Given the description of an element on the screen output the (x, y) to click on. 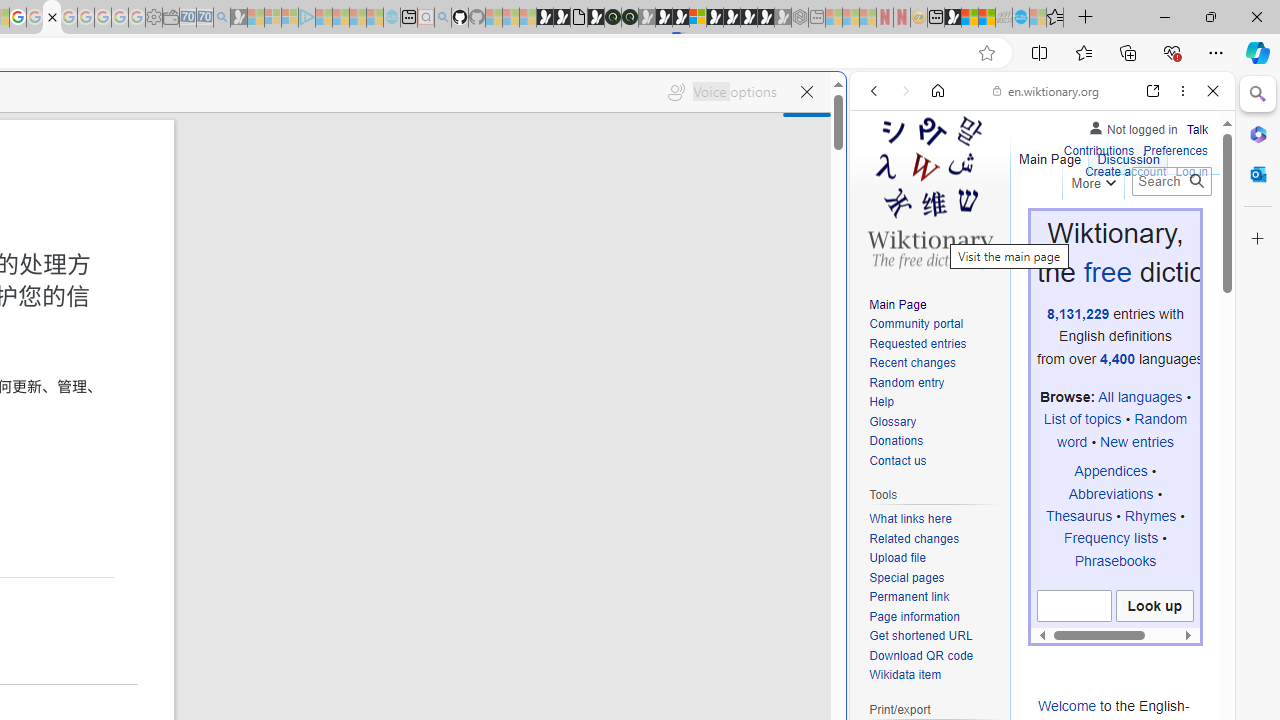
List of topics (1082, 419)
Log in (1191, 172)
Donations (896, 441)
What links here (934, 519)
Requested entries (934, 344)
8,131,229 (1078, 313)
Random entry (906, 382)
Tabs you've opened (276, 265)
